Given the description of an element on the screen output the (x, y) to click on. 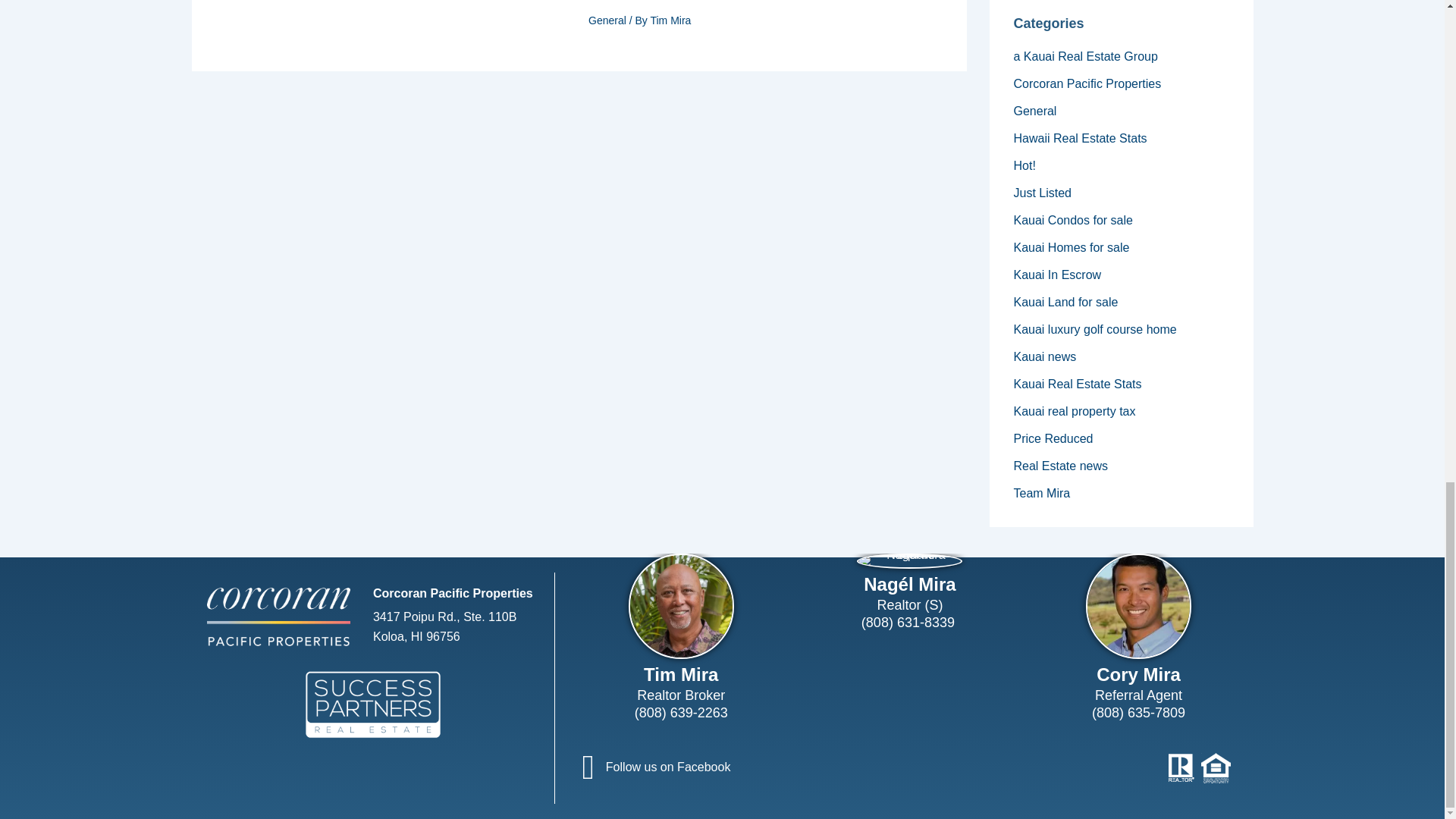
Tim Mira (680, 606)
Success Partners (372, 704)
REALTOR Equal Housing Opportunity (1199, 767)
Corcoran Pacific Properties (277, 617)
View all posts by Tim Mira (669, 20)
Nagel Mira square (909, 560)
